Given the description of an element on the screen output the (x, y) to click on. 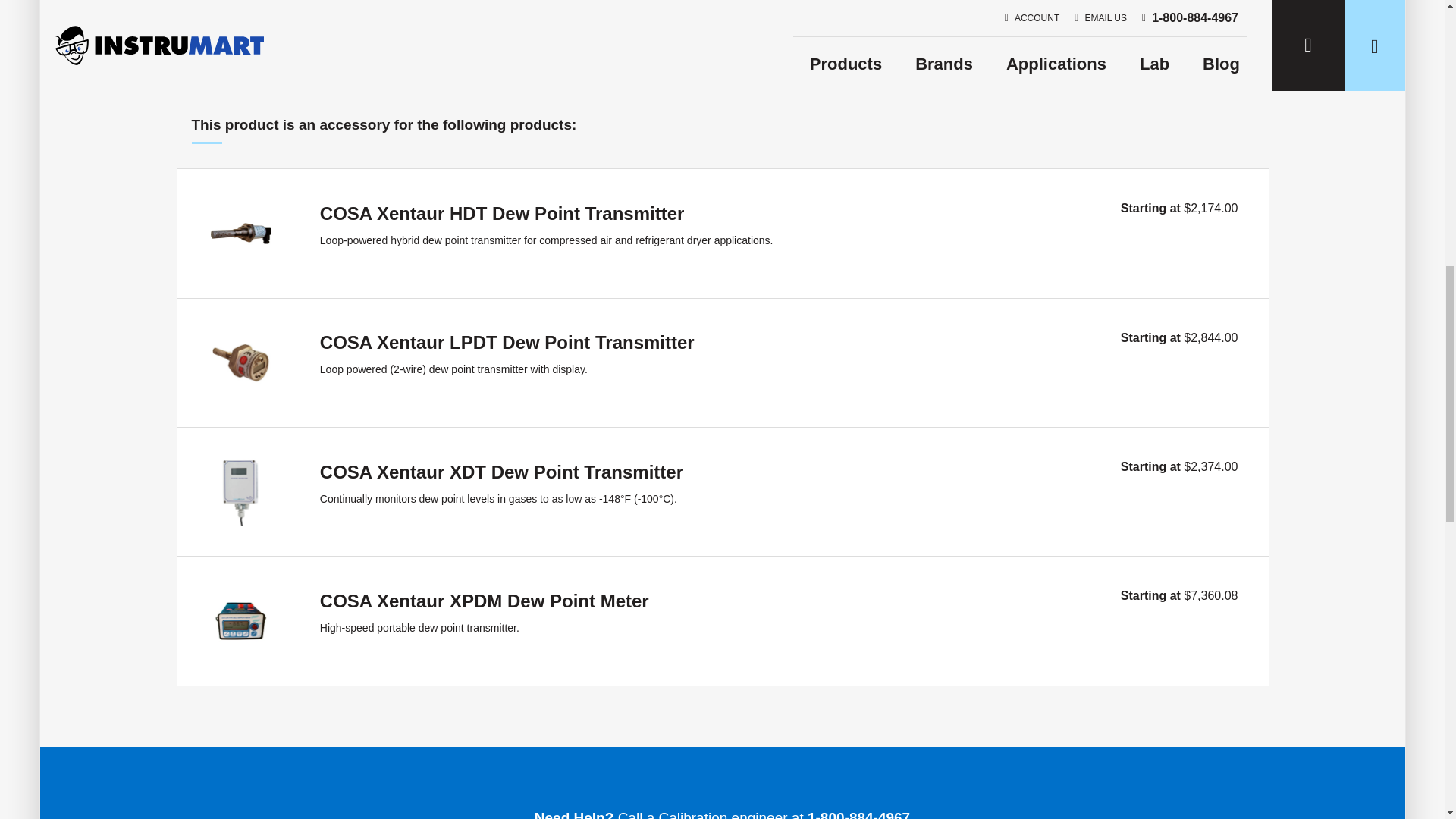
Overview (662, 30)
Description (774, 33)
